Given the description of an element on the screen output the (x, y) to click on. 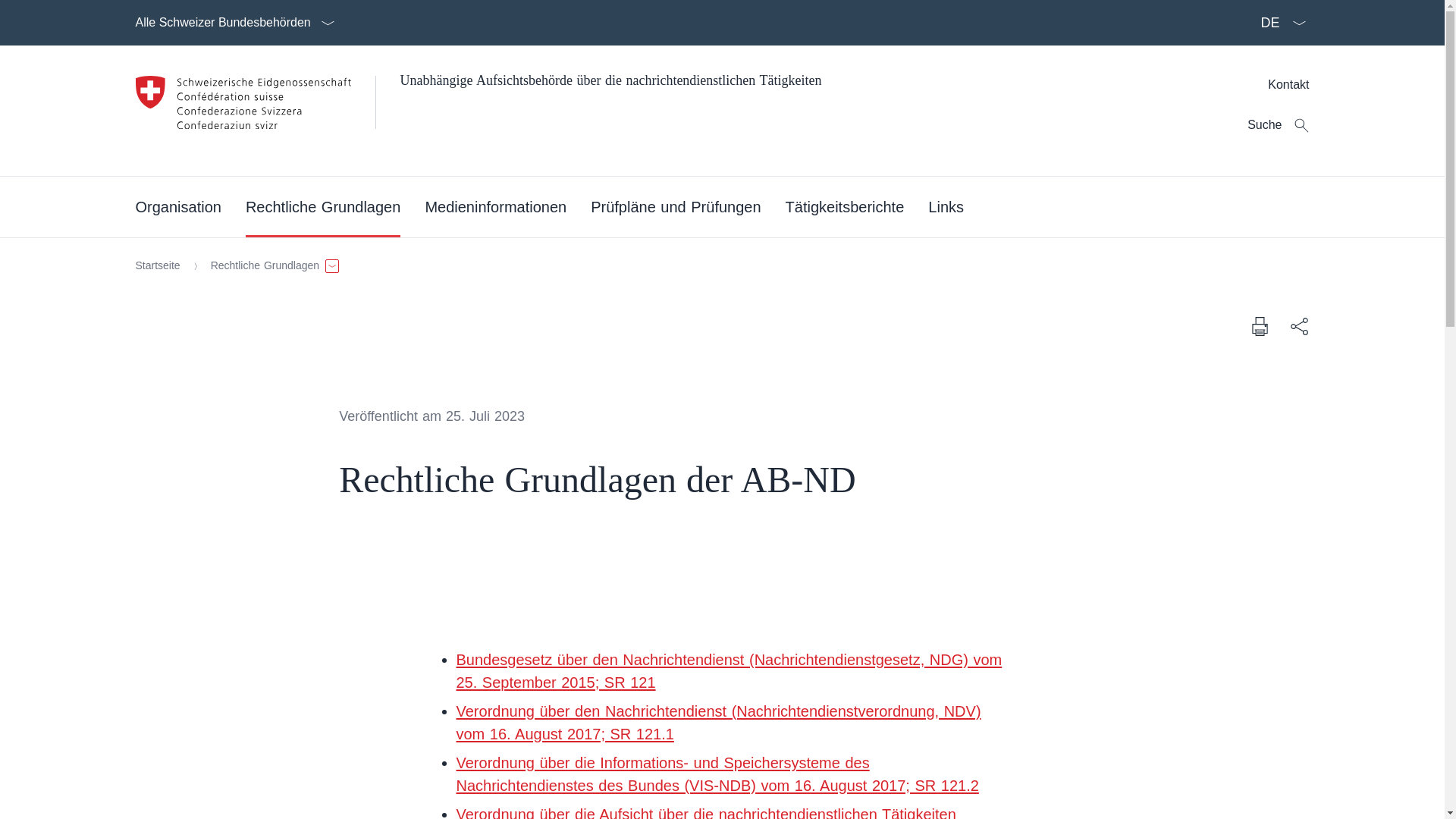
Medieninformationen Element type: text (495, 206)
Kontakt Element type: text (1287, 84)
Rechtliche Grundlagen Element type: text (322, 206)
Rechtliche Grundlagen Element type: text (271, 266)
Links Element type: text (945, 206)
Startseite Element type: text (156, 266)
Organisation Element type: text (177, 206)
